Given the description of an element on the screen output the (x, y) to click on. 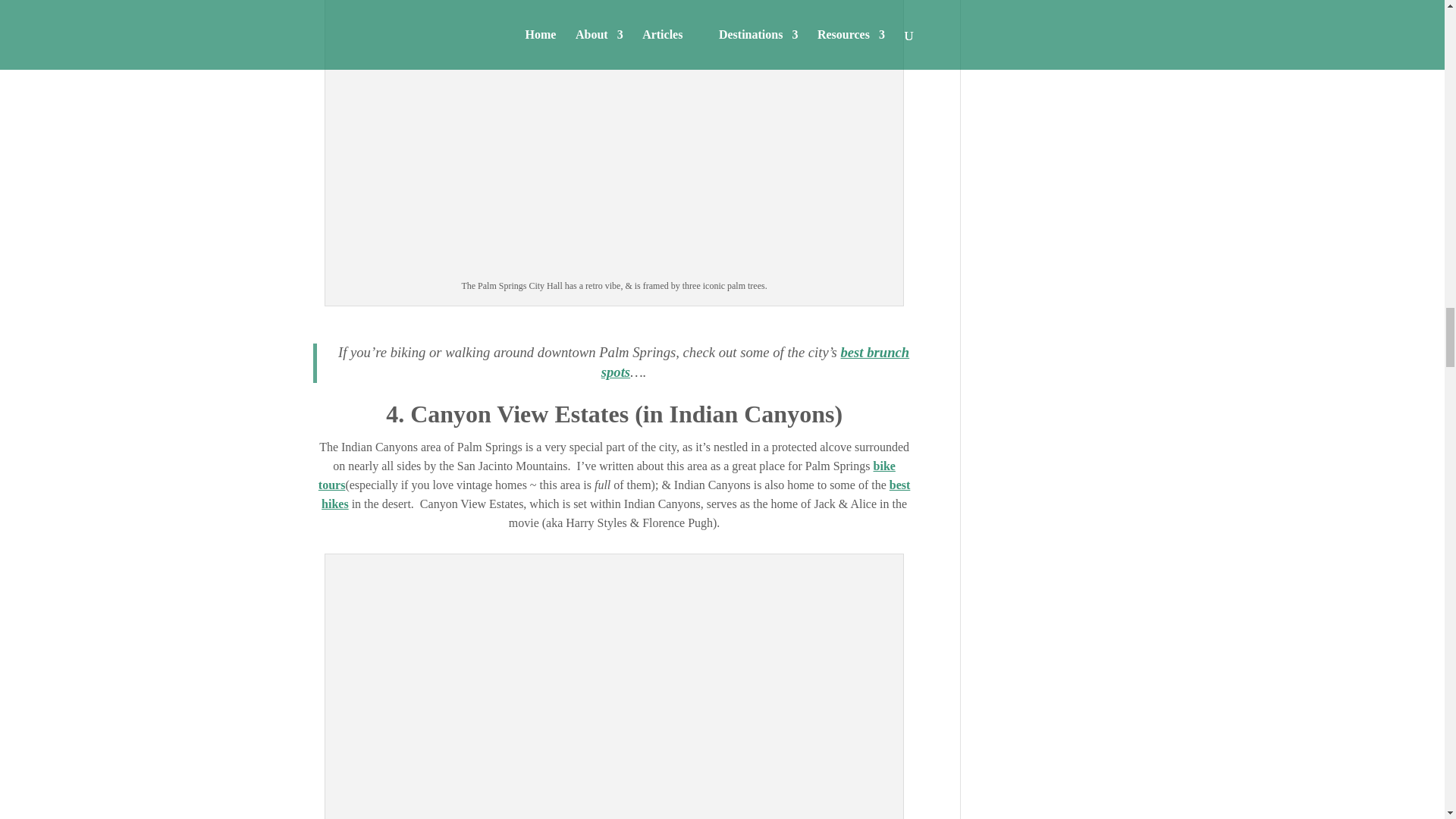
best brunch spots (754, 361)
bike tours (606, 475)
best hikes (615, 494)
